Given the description of an element on the screen output the (x, y) to click on. 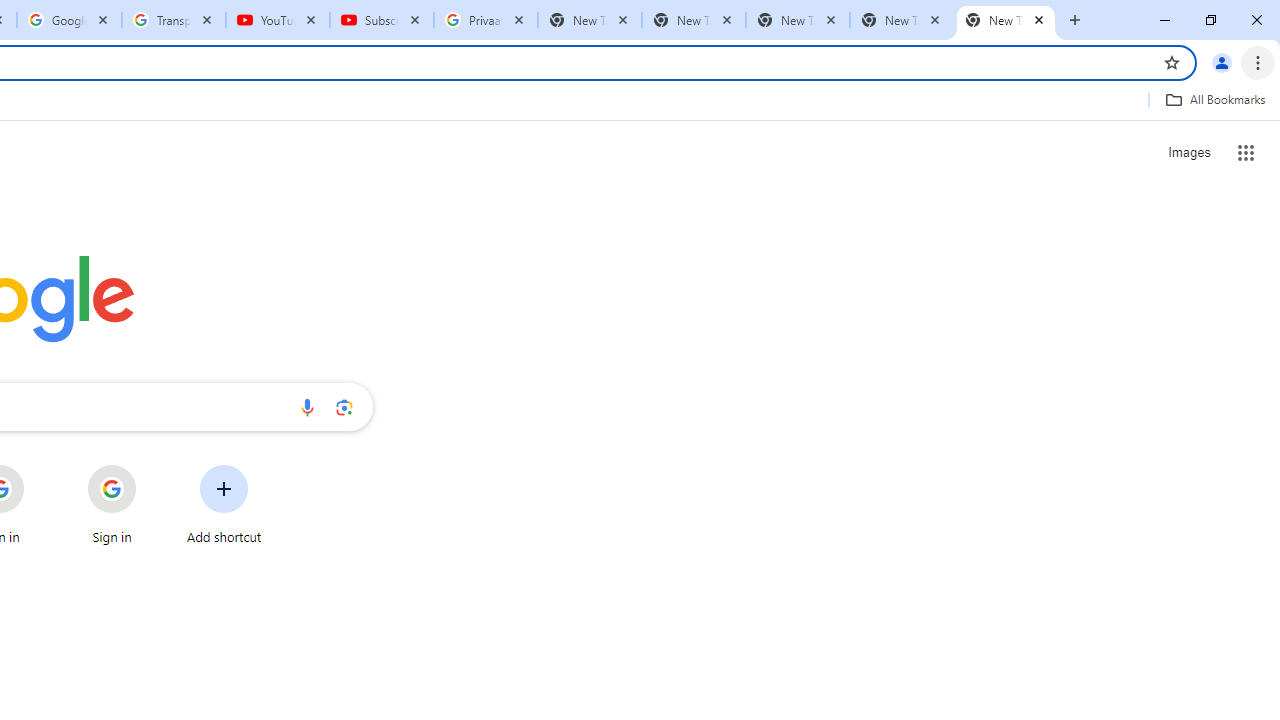
New Tab (1005, 20)
Google Account (68, 20)
YouTube (278, 20)
